Given the description of an element on the screen output the (x, y) to click on. 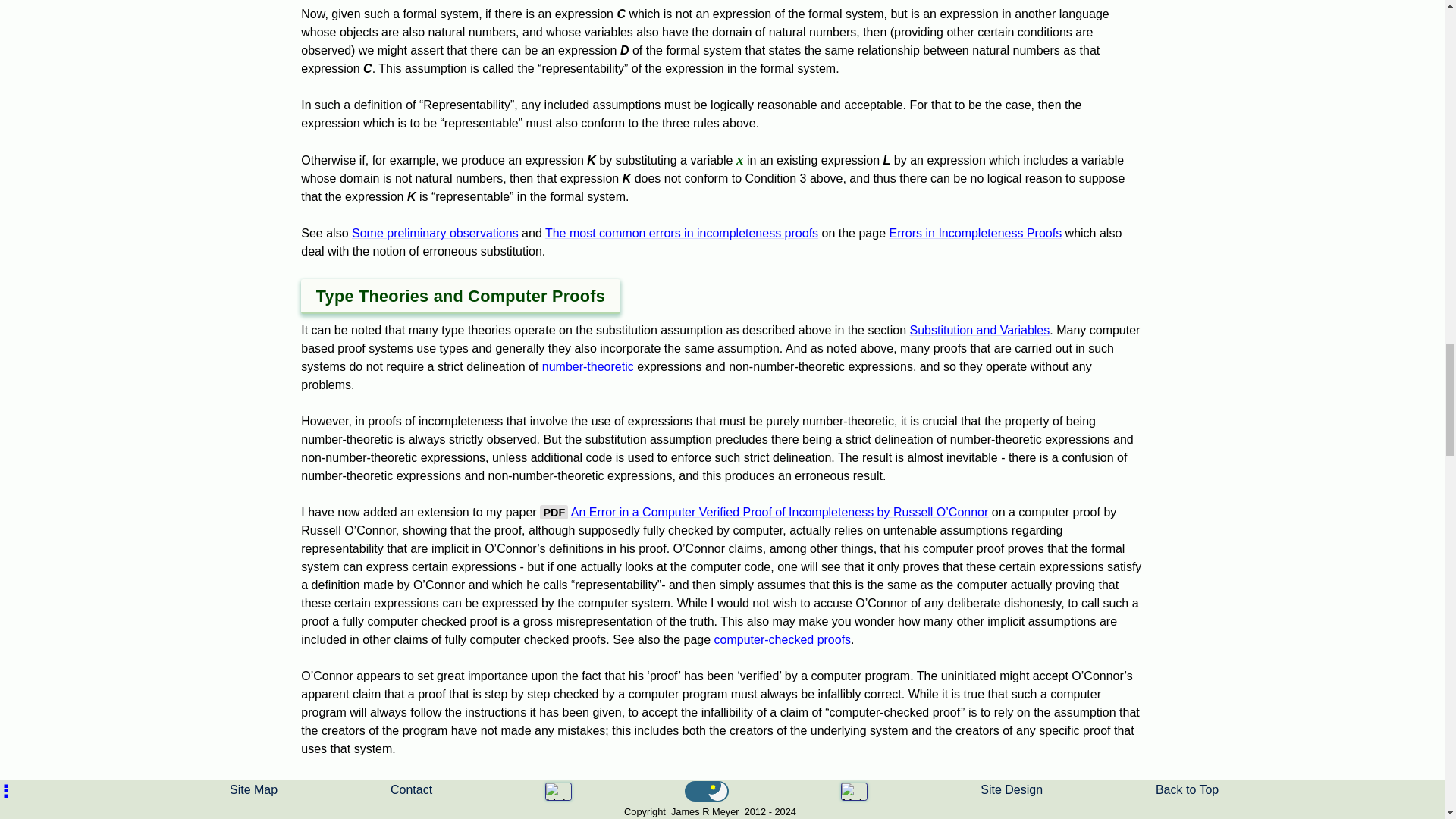
The most common errors in incompleteness proofs (681, 232)
computer-checked proofs (782, 639)
number-theoretic (587, 366)
Some preliminary observations (435, 232)
Substitution and Variables (979, 329)
Errors in Incompleteness Proofs (974, 232)
